Given the description of an element on the screen output the (x, y) to click on. 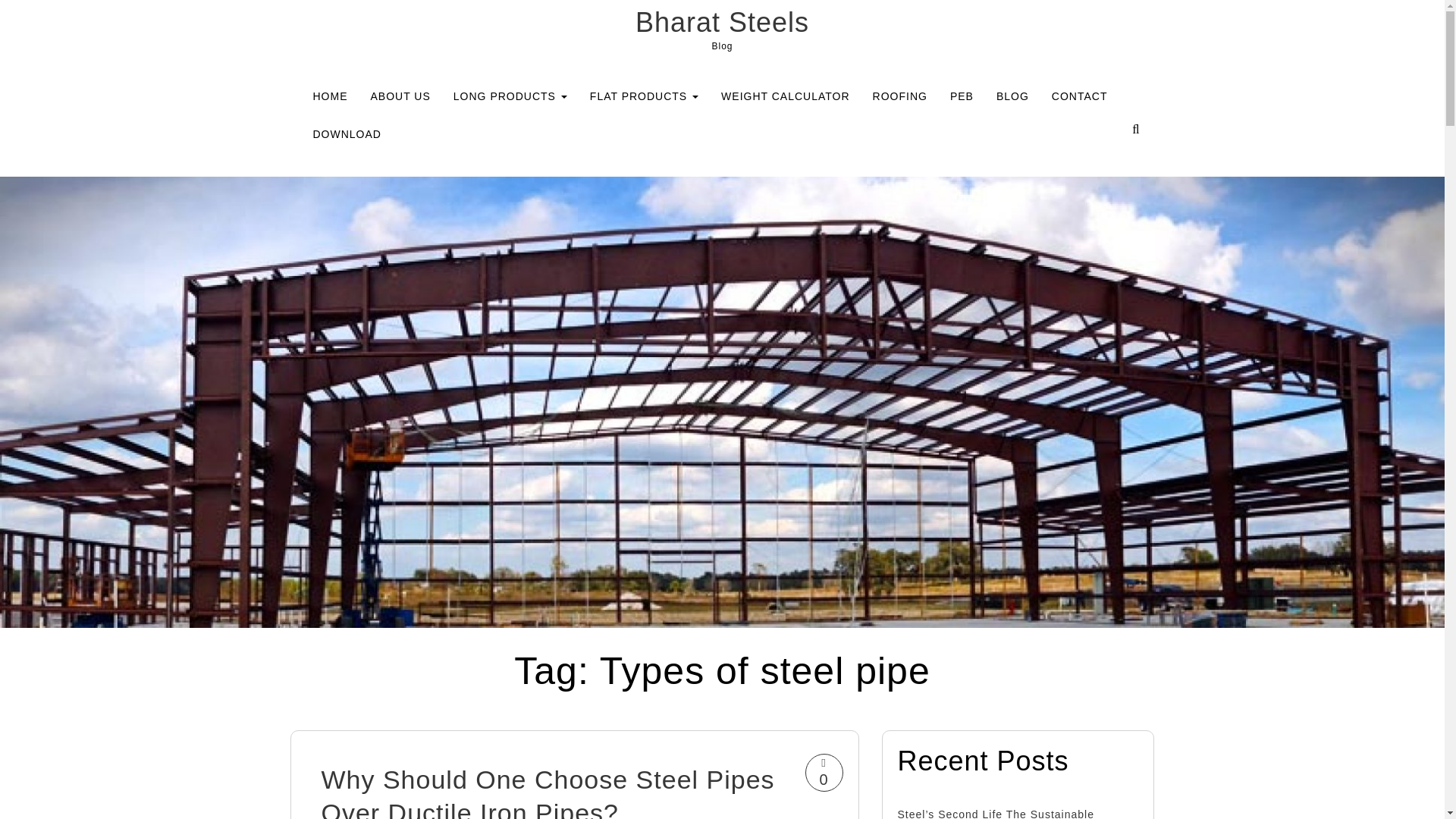
ABOUT US (400, 95)
FLAT PRODUCTS (644, 95)
0 (823, 772)
CONTACT (1080, 95)
Weight Calculator (785, 95)
HOME (330, 95)
LONG PRODUCTS (510, 95)
Why Should One Choose Steel Pipes Over Ductile Iron Pipes? (547, 791)
Long Products (510, 95)
